Given the description of an element on the screen output the (x, y) to click on. 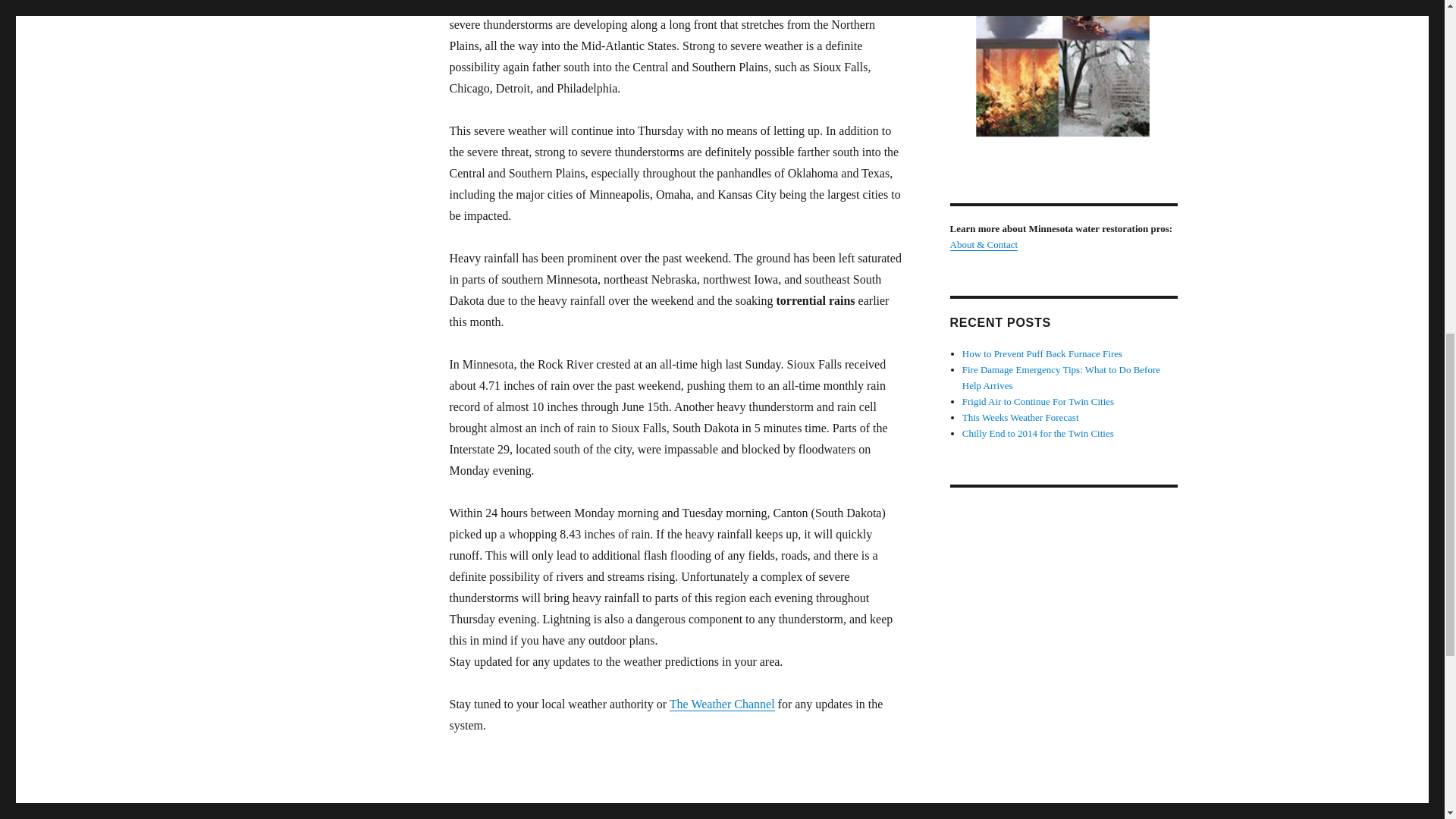
The Weather Channel (721, 703)
Chilly End to 2014 for the Twin Cities (1037, 432)
How to Prevent Puff Back Furnace Fires (1042, 353)
This Weeks Weather Forecast (1020, 417)
Fire Damage Emergency Tips: What to Do Before Help Arrives (1061, 377)
Frigid Air to Continue For Twin Cities (1037, 401)
